Given the description of an element on the screen output the (x, y) to click on. 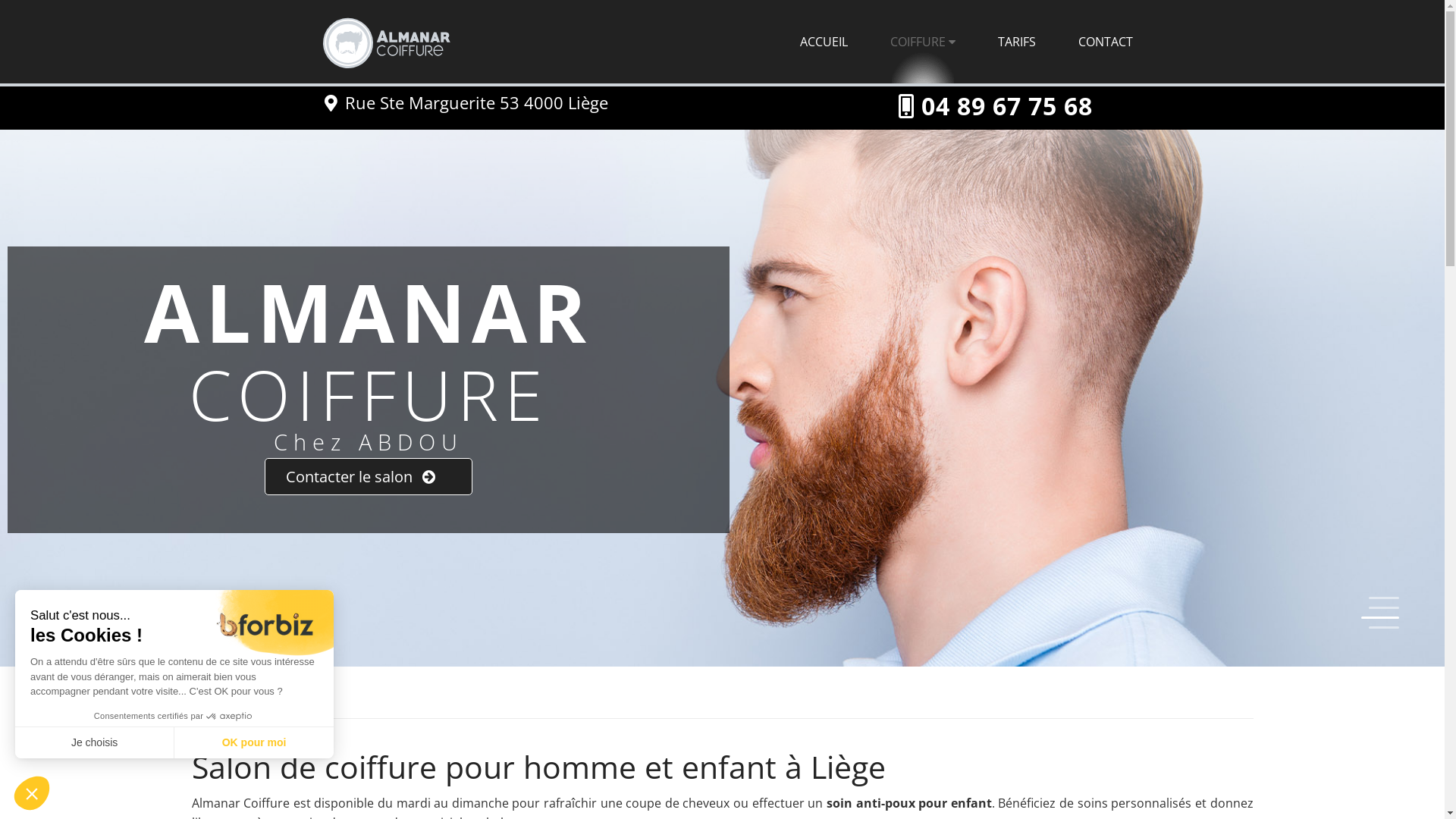
OK pour moi Element type: text (253, 742)
TARIFS Element type: text (1016, 41)
Close the widget without accepting cookie settings Element type: hover (31, 793)
CONTACT Element type: text (1105, 41)
COIFFURE Element type: text (922, 41)
Contacter le salon Element type: text (368, 476)
ACCUEIL Element type: text (823, 41)
Almanar Coiffure Element type: hover (233, 39)
Je choisis Element type: text (94, 742)
04 89 67 75 68 Element type: text (1006, 105)
